Given the description of an element on the screen output the (x, y) to click on. 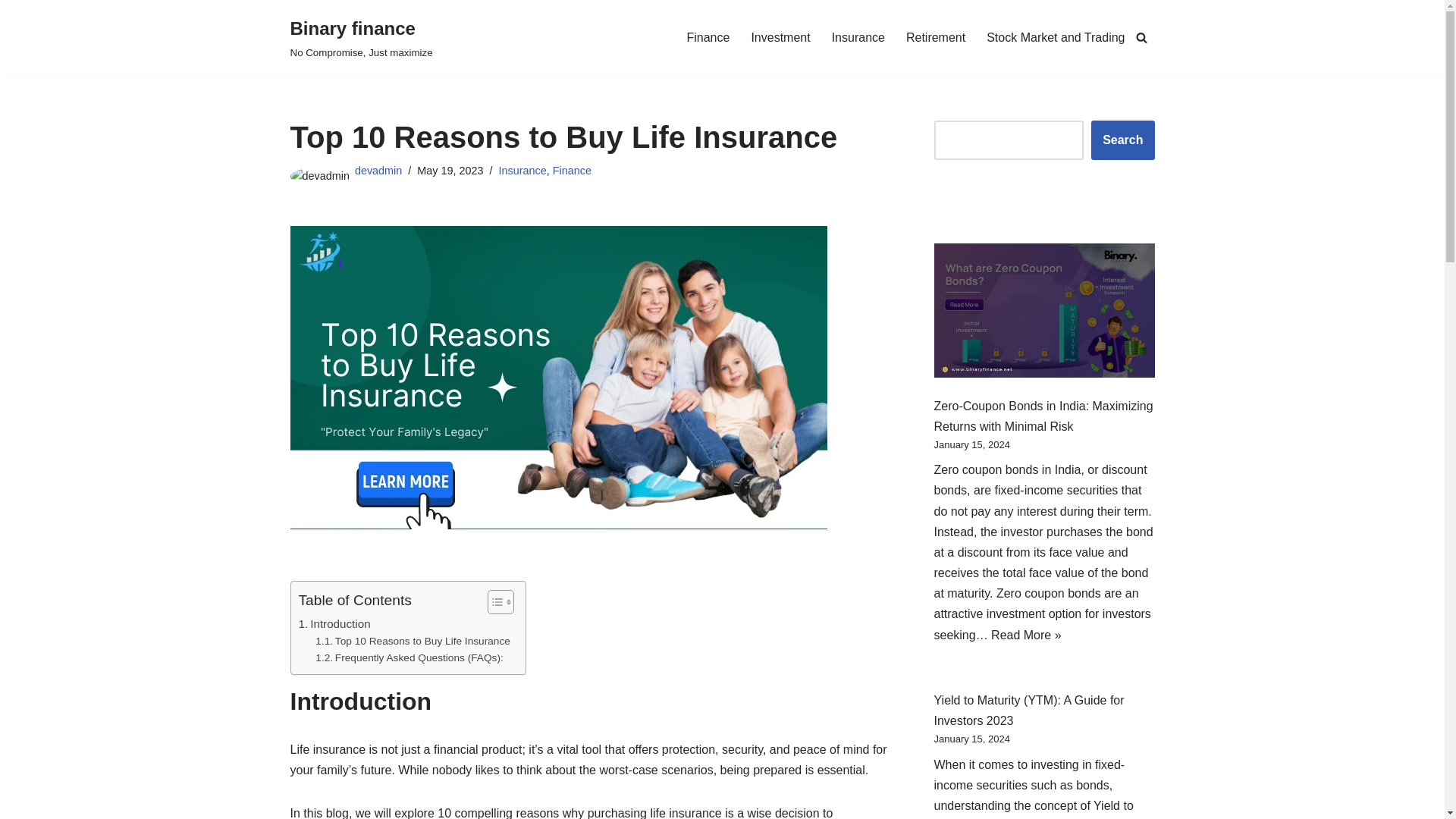
Finance (707, 37)
Search (1122, 139)
devadmin (378, 170)
Stock Market and Trading (1055, 37)
Finance (572, 170)
Investment (780, 37)
Insurance (523, 170)
Posts by devadmin (378, 170)
Insurance (858, 37)
